Given the description of an element on the screen output the (x, y) to click on. 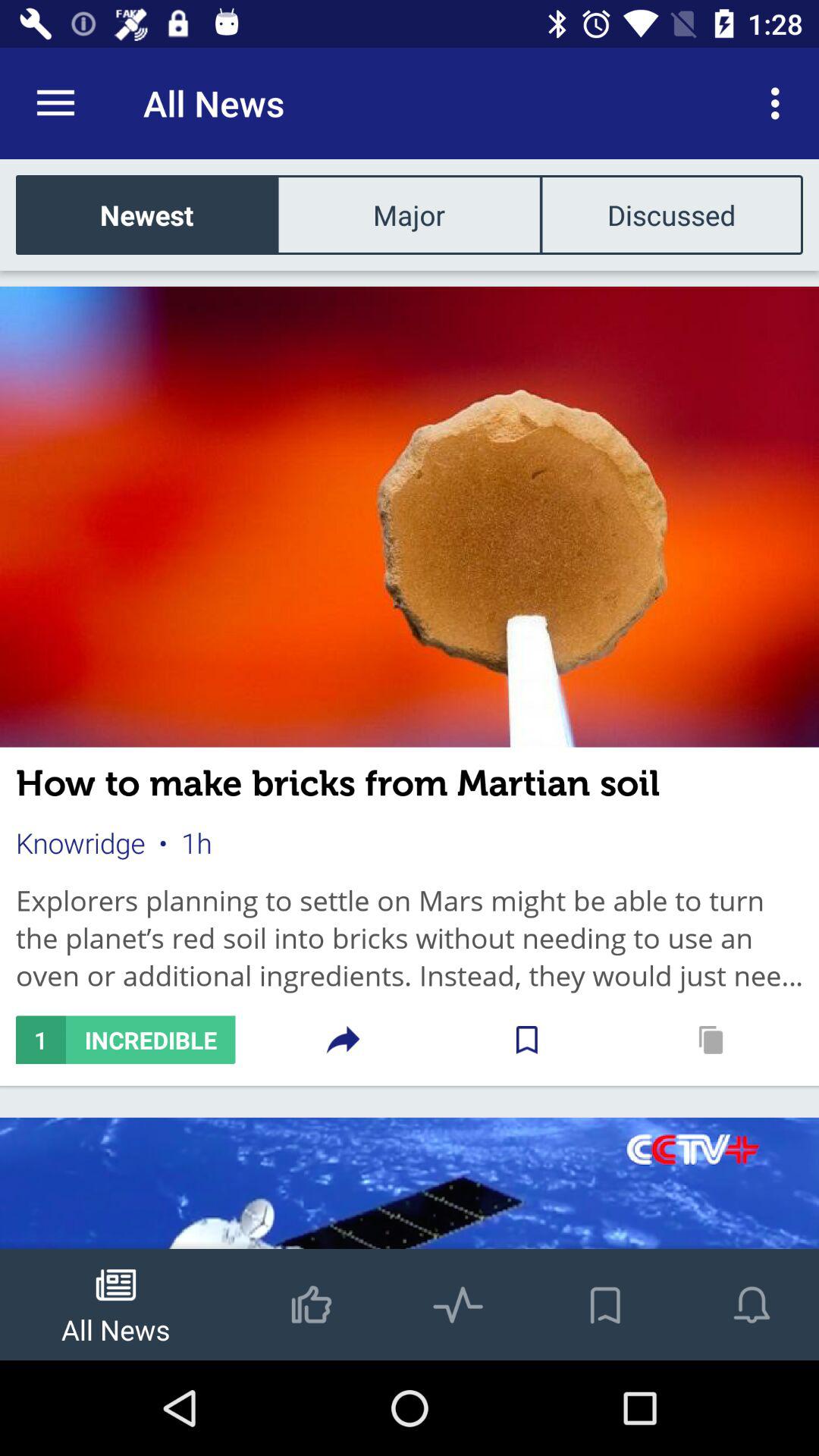
flip to newest (146, 214)
